Given the description of an element on the screen output the (x, y) to click on. 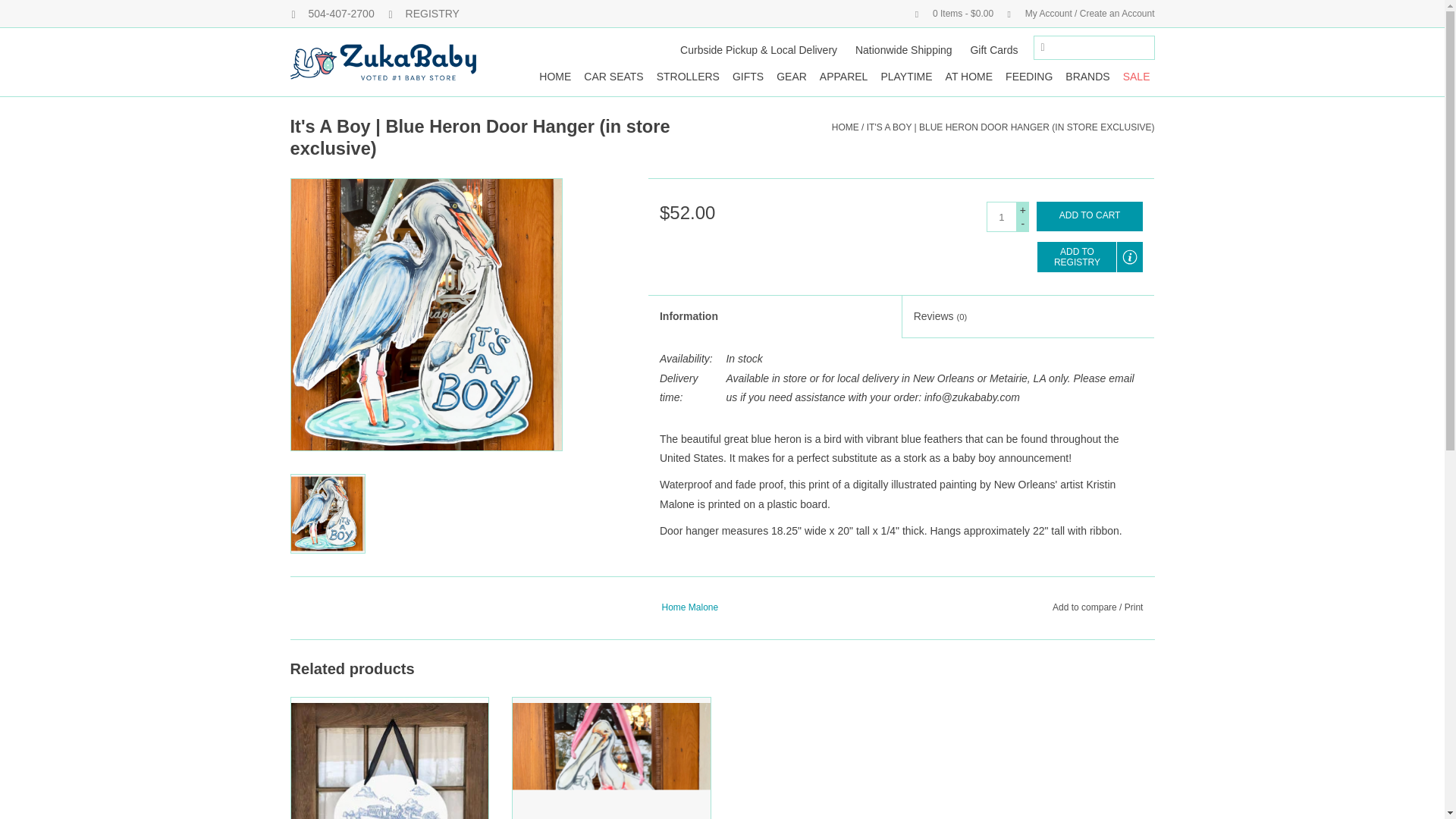
Cart (949, 13)
Nationwide Shipping (904, 50)
Strollers (687, 76)
STROLLERS (687, 76)
1 (1001, 216)
504-407-2700 (331, 13)
GIFTS (748, 76)
Gift Cards (993, 50)
CAR SEATS (613, 76)
My Account (1074, 13)
